Given the description of an element on the screen output the (x, y) to click on. 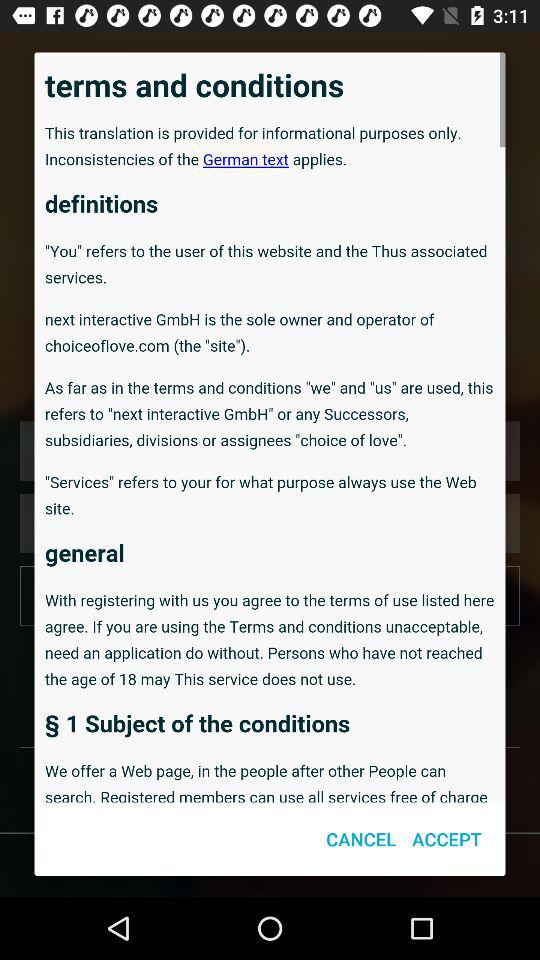
terms and conditons details in screen (269, 427)
